Given the description of an element on the screen output the (x, y) to click on. 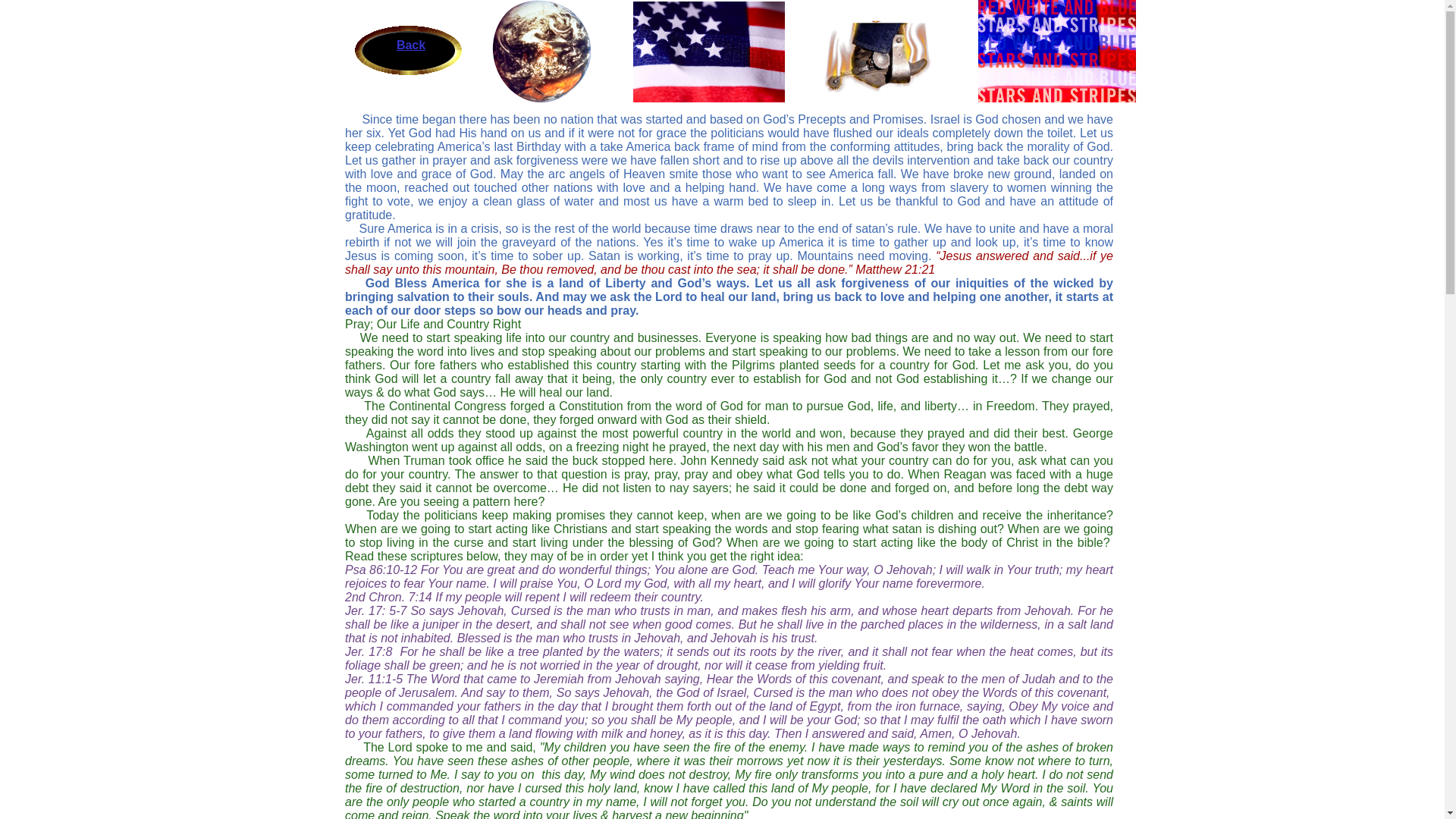
Back Element type: text (410, 44)
